Given the description of an element on the screen output the (x, y) to click on. 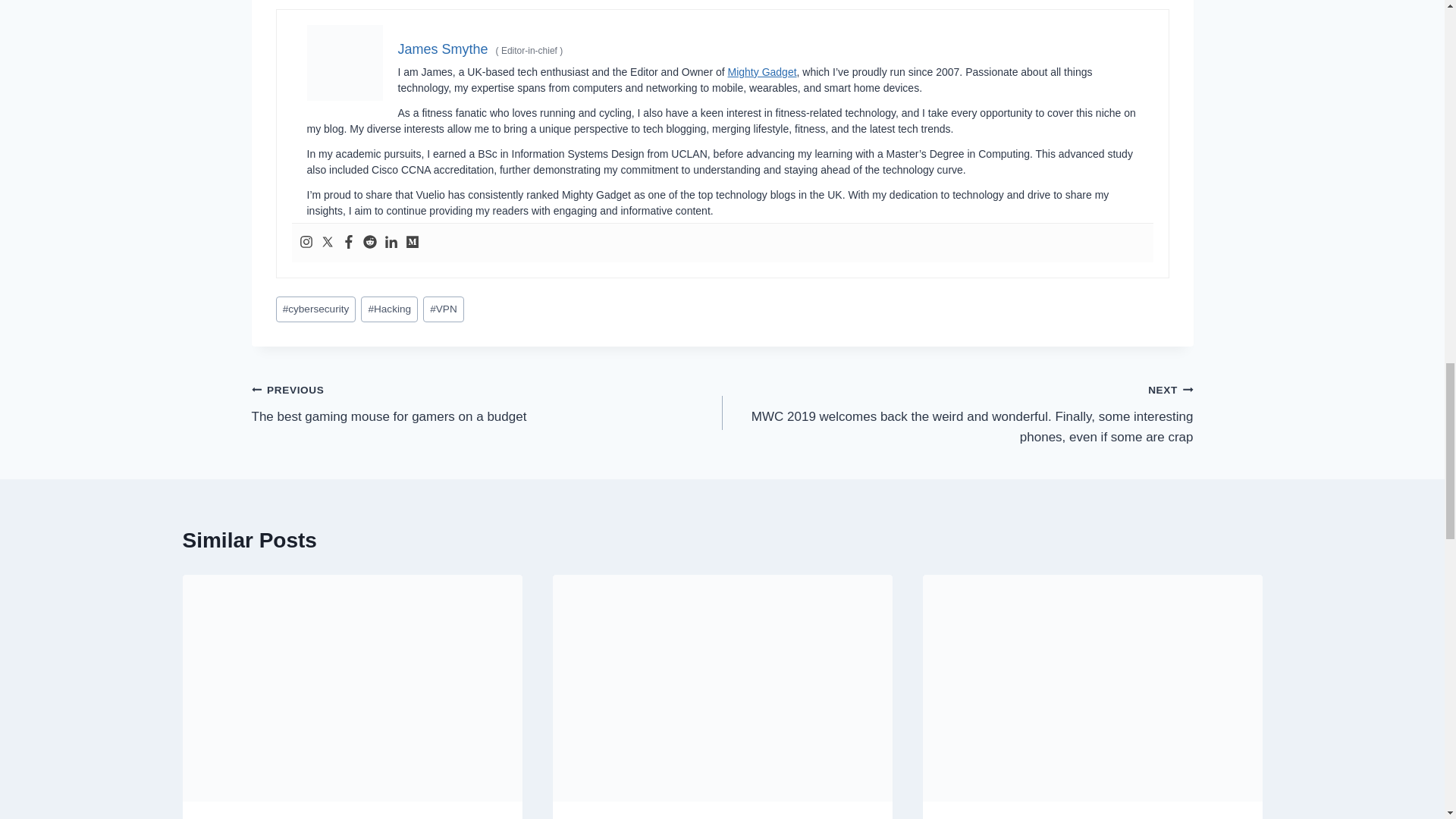
James Smythe (442, 48)
Hacking (389, 309)
realme X2 pro feature (351, 687)
HONOR Magic6 Lite Feature (486, 402)
Mighty Gadget (721, 687)
VPN (762, 71)
6658afeebfcb2c289ed52f37daf69159 (443, 309)
cybersecurity (343, 62)
